Given the description of an element on the screen output the (x, y) to click on. 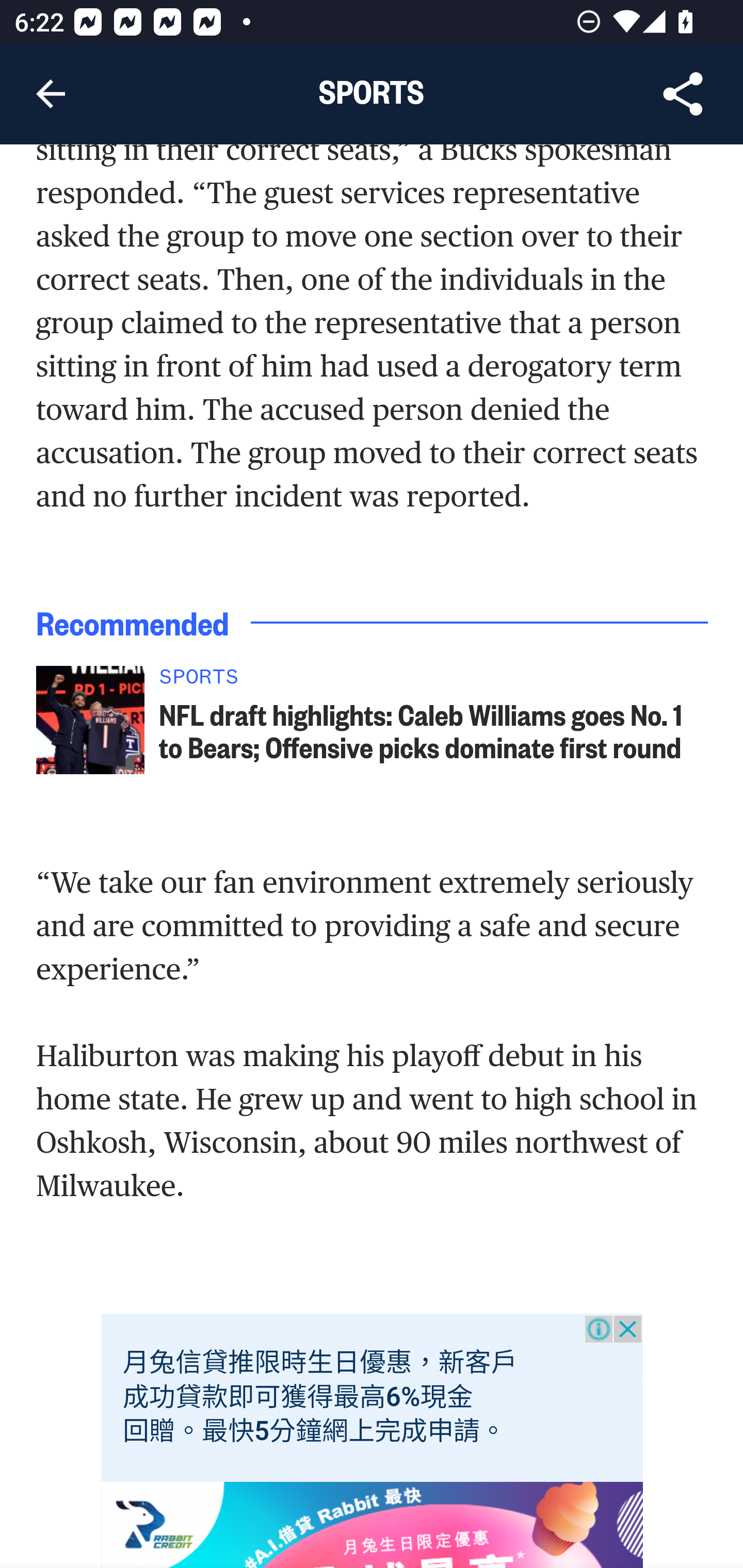
Navigate up (50, 93)
Share Article, button (683, 94)
SPORTS (434, 682)
nfl-draft-2024-live-updates-rcna148996 (90, 721)
